Given the description of an element on the screen output the (x, y) to click on. 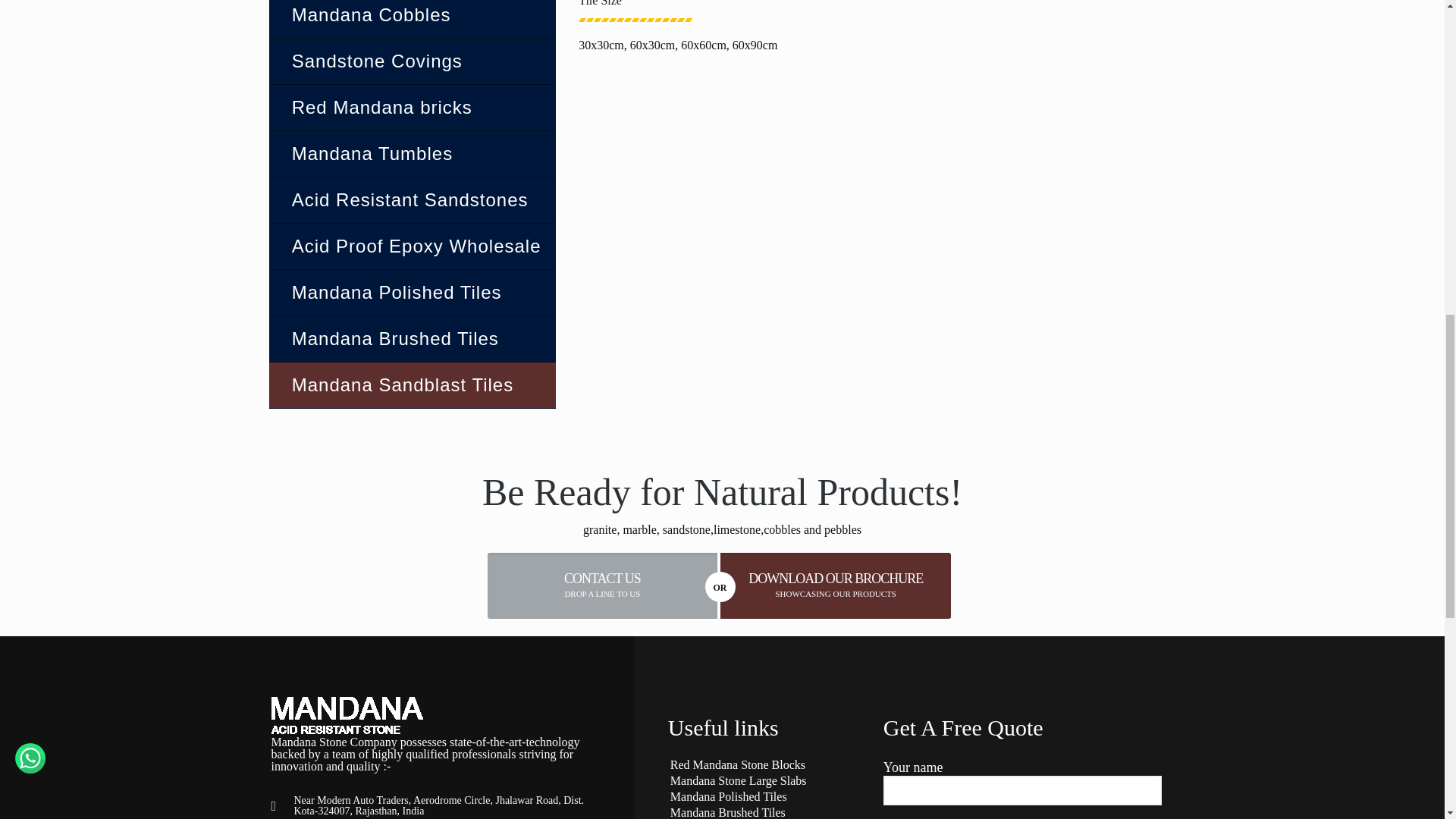
Mandana Tumbles (412, 153)
Mandana Cobbles (412, 18)
Red Mandana bricks (412, 107)
Sandstone Covings (412, 61)
